Given the description of an element on the screen output the (x, y) to click on. 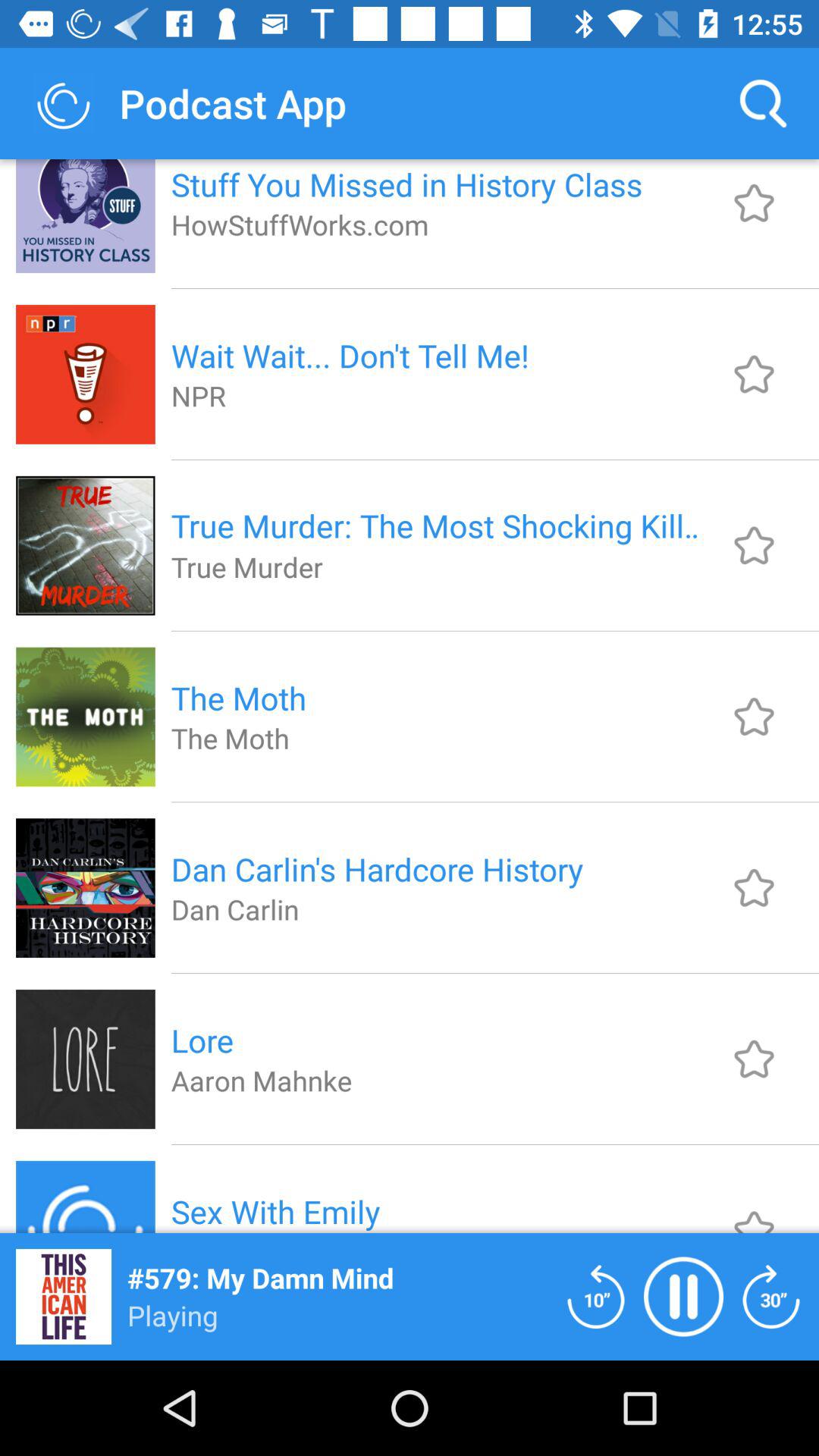
add podcast to favourites (754, 203)
